Given the description of an element on the screen output the (x, y) to click on. 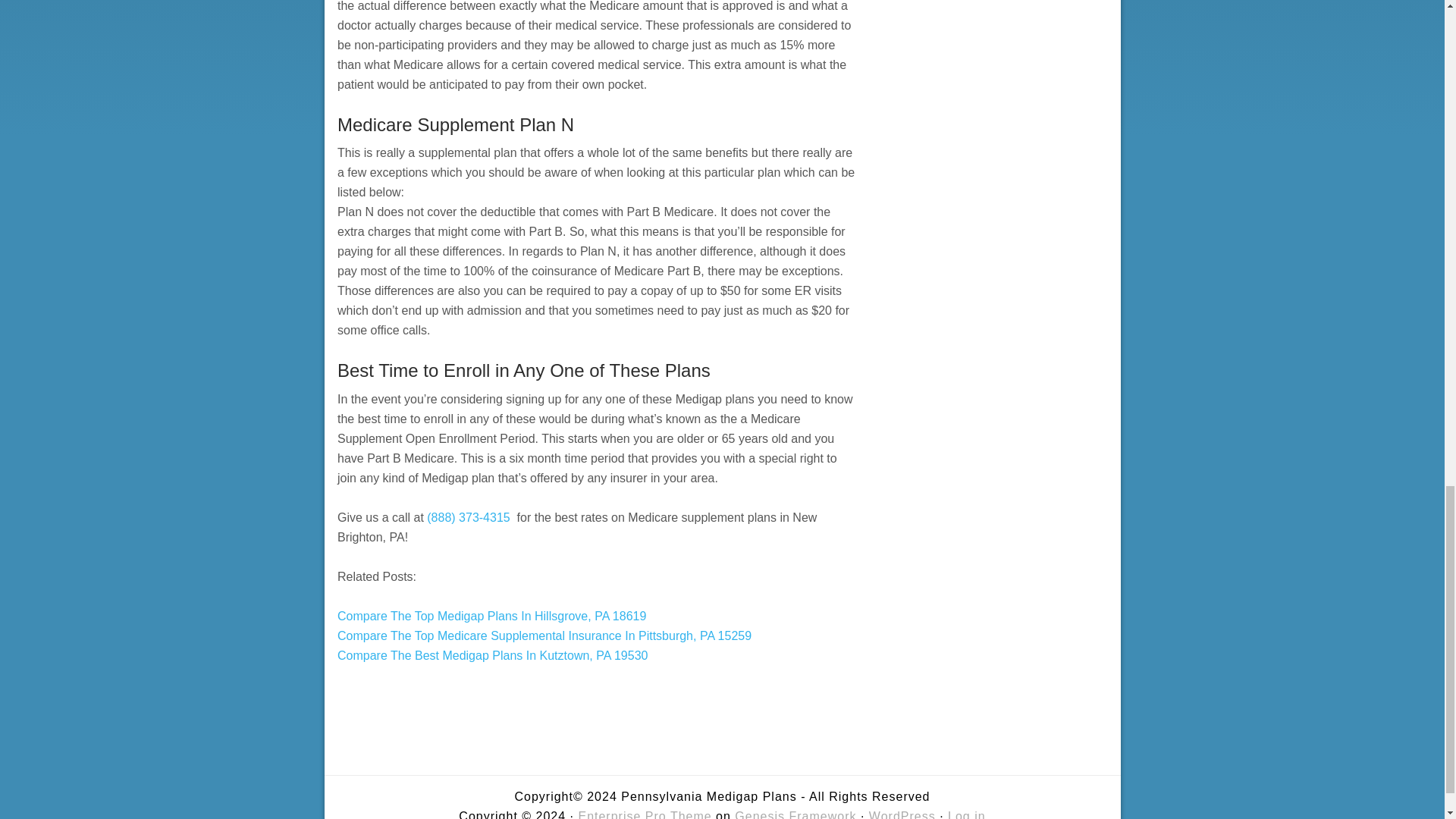
Compare The Best Medigap Plans In Kutztown, PA 19530 (492, 655)
Compare The Best Medigap Plans In Kutztown, PA 19530 (492, 655)
Compare The Top Medigap Plans In Hillsgrove, PA 18619 (491, 615)
Compare The Top Medigap Plans In Hillsgrove, PA 18619 (491, 615)
